Given the description of an element on the screen output the (x, y) to click on. 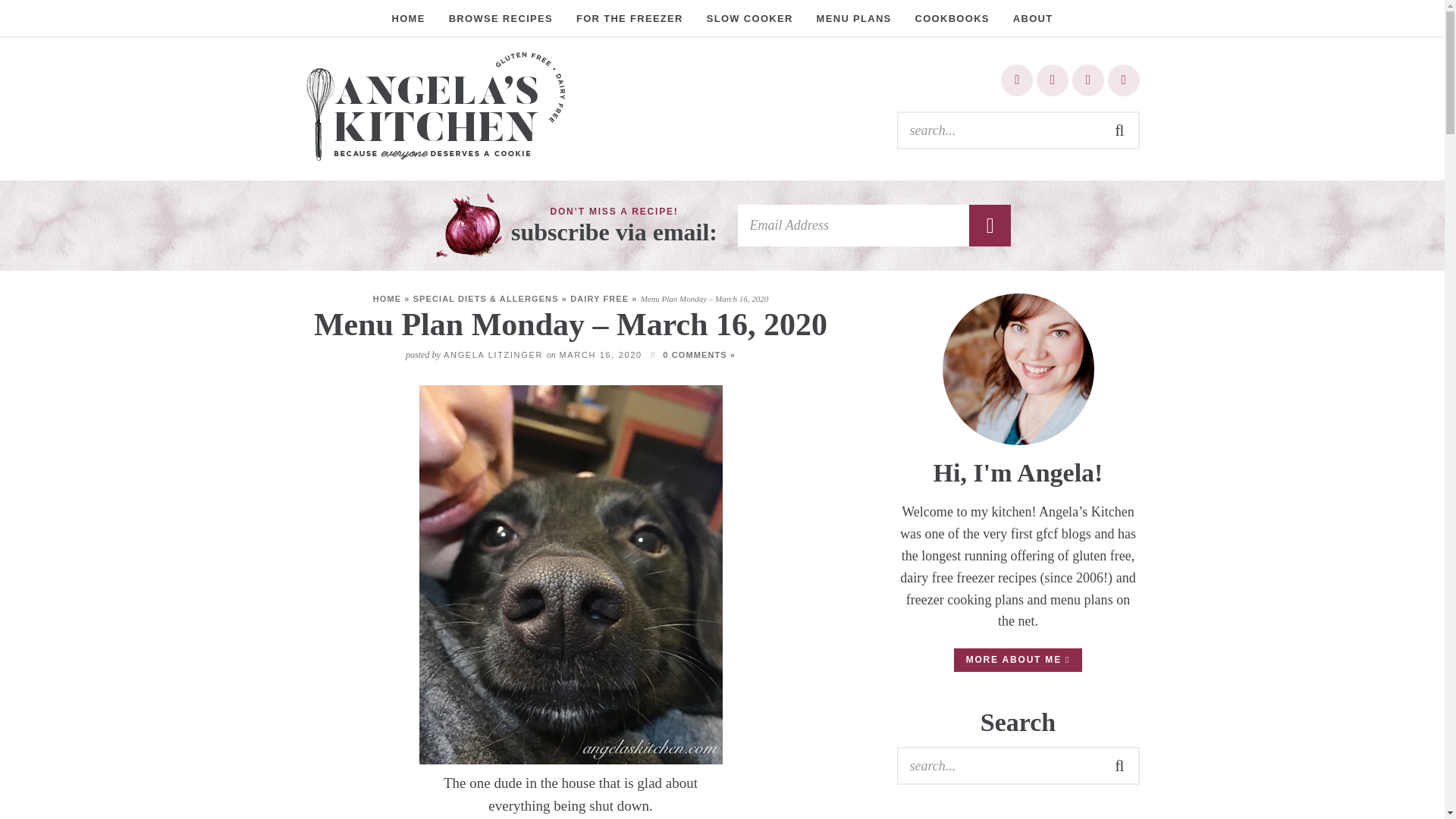
HOME (408, 18)
BROWSE RECIPES (500, 18)
Angela's Kitchen (434, 106)
More About Me (1017, 369)
